Given the description of an element on the screen output the (x, y) to click on. 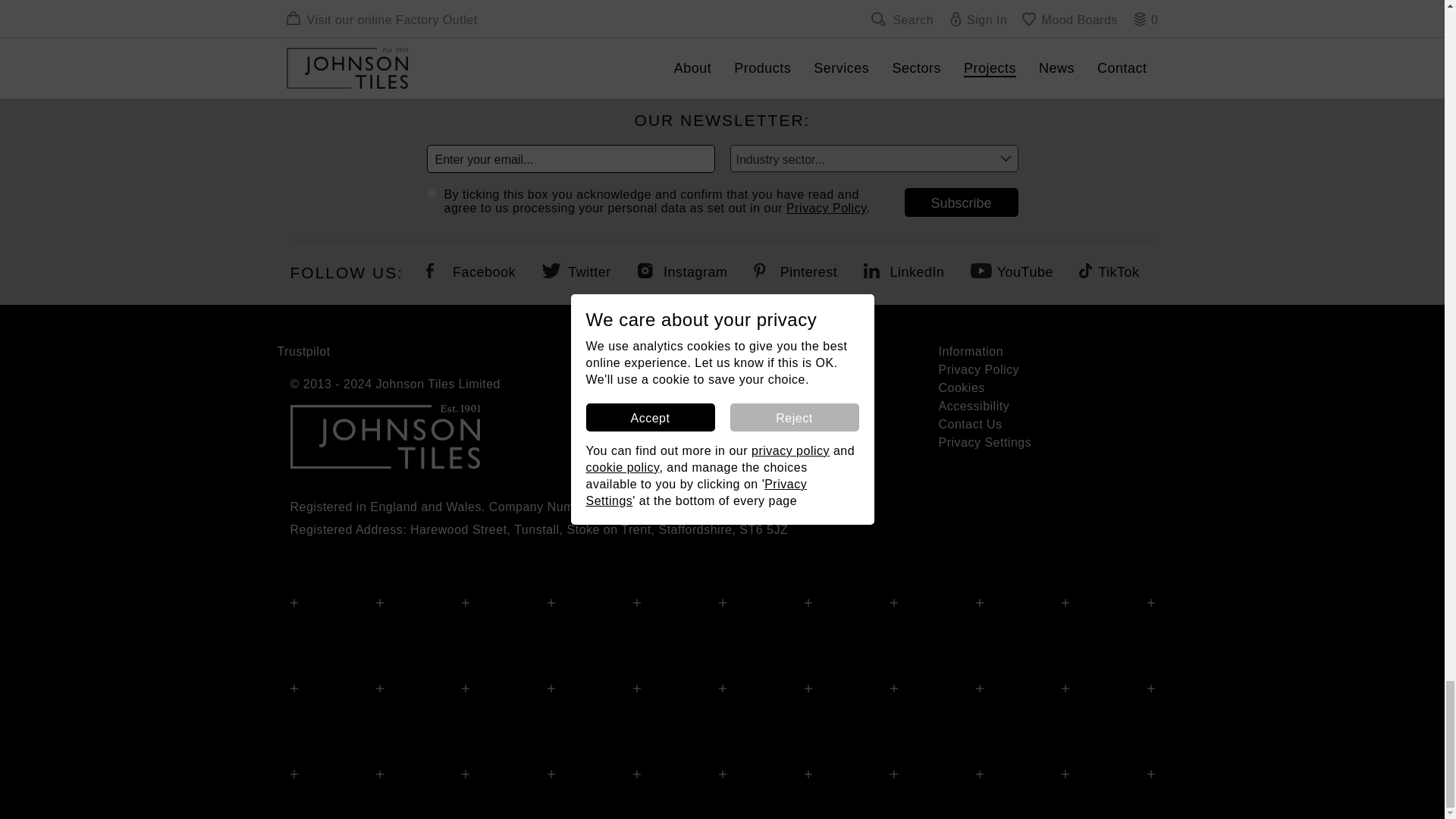
on (430, 193)
